Given the description of an element on the screen output the (x, y) to click on. 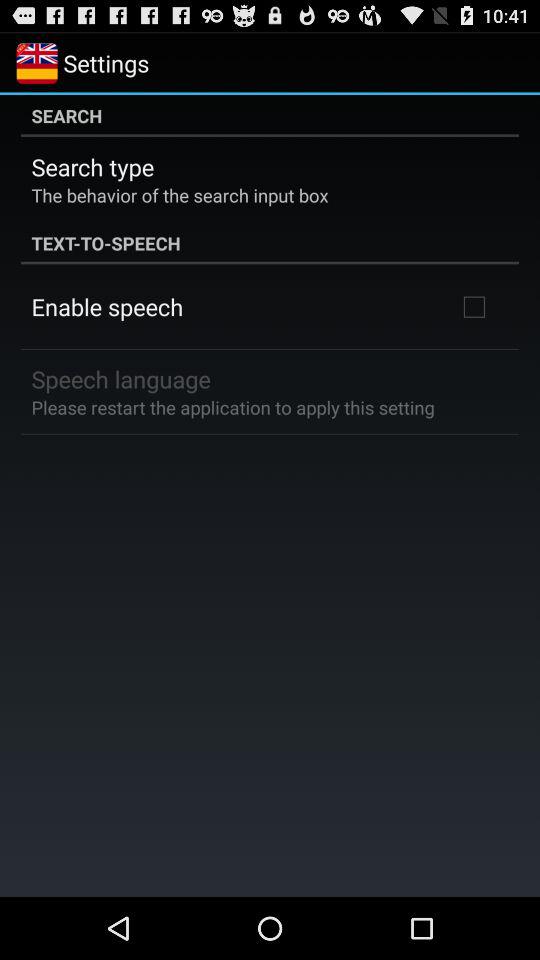
press the app below text-to-speech item (107, 306)
